Given the description of an element on the screen output the (x, y) to click on. 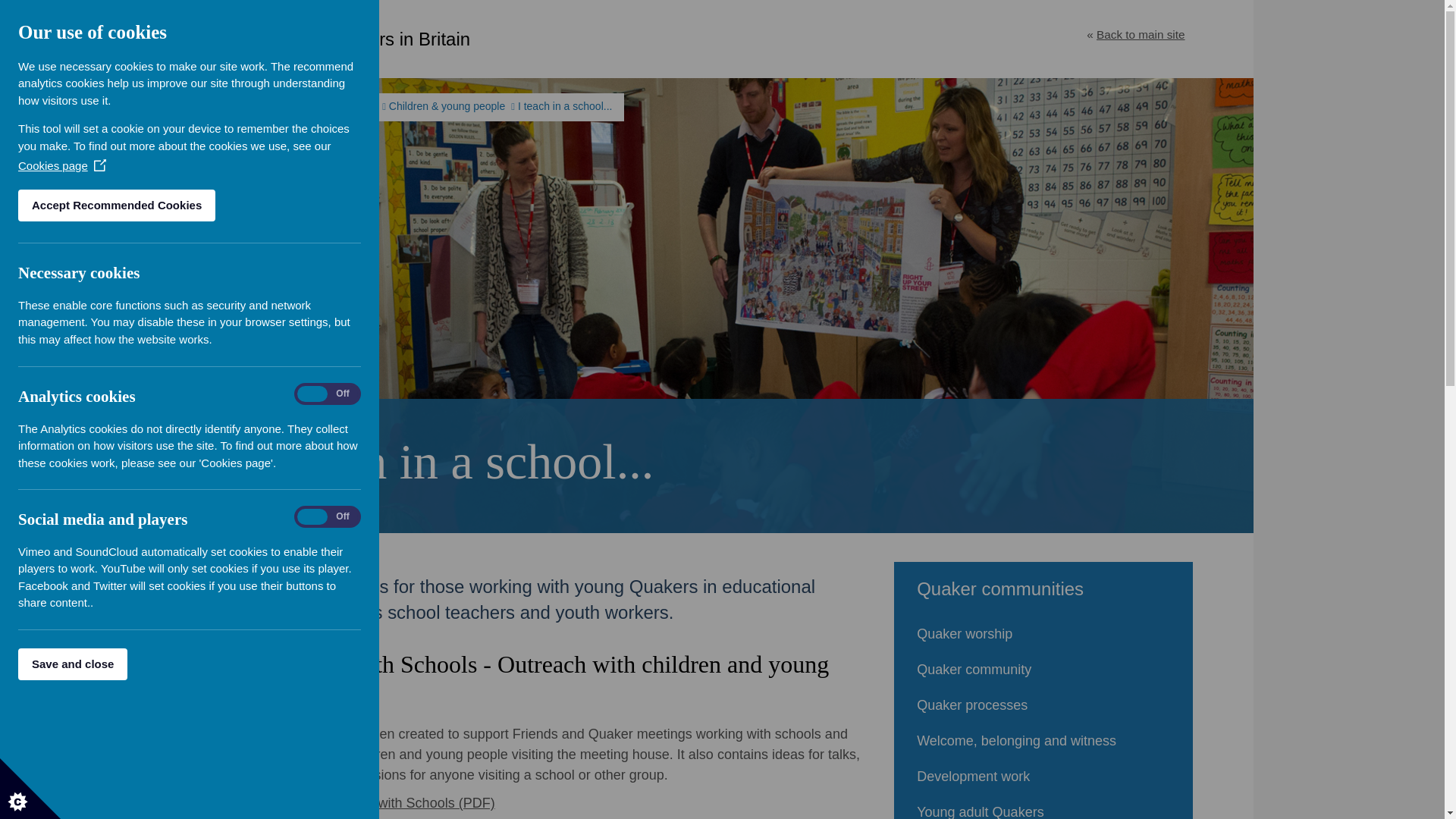
Cookie Control Icon (30, 788)
Quakers in Britain (360, 38)
I teach in a school... (565, 105)
Back to main site (1140, 33)
Welcome, belonging and witness (1042, 741)
Development work (1042, 776)
Young adult Quakers (1042, 806)
Quaker community (1042, 669)
Quaker communities (327, 105)
Quaker communities (1042, 588)
